Given the description of an element on the screen output the (x, y) to click on. 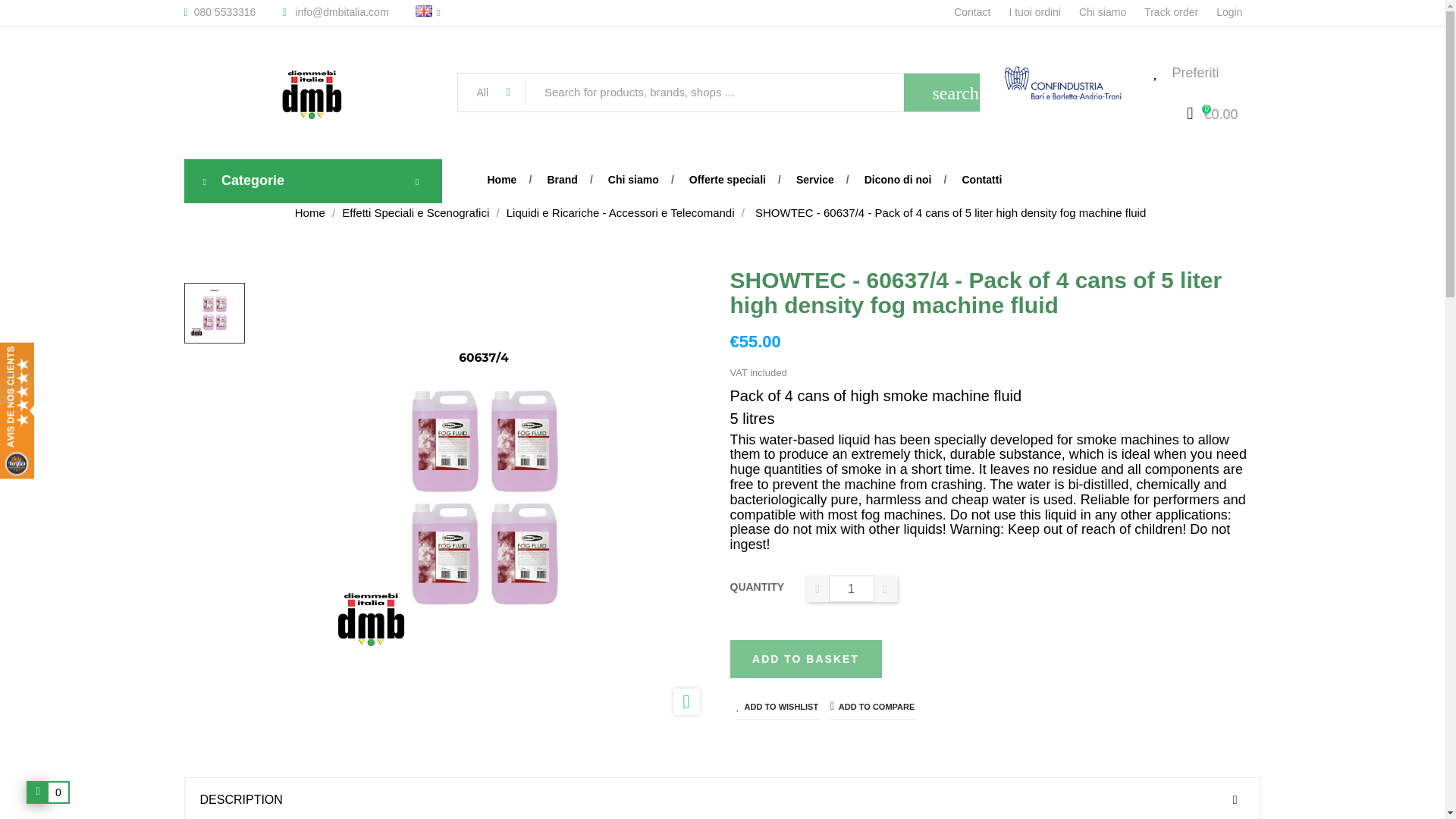
Login (1237, 11)
Add to Wishlist (776, 705)
Chi siamo (1111, 11)
Language (433, 13)
All (491, 92)
1 (850, 588)
Contact (981, 11)
Track order (1179, 11)
Add to Compare (872, 705)
I tuoi ordini (1043, 11)
